Given the description of an element on the screen output the (x, y) to click on. 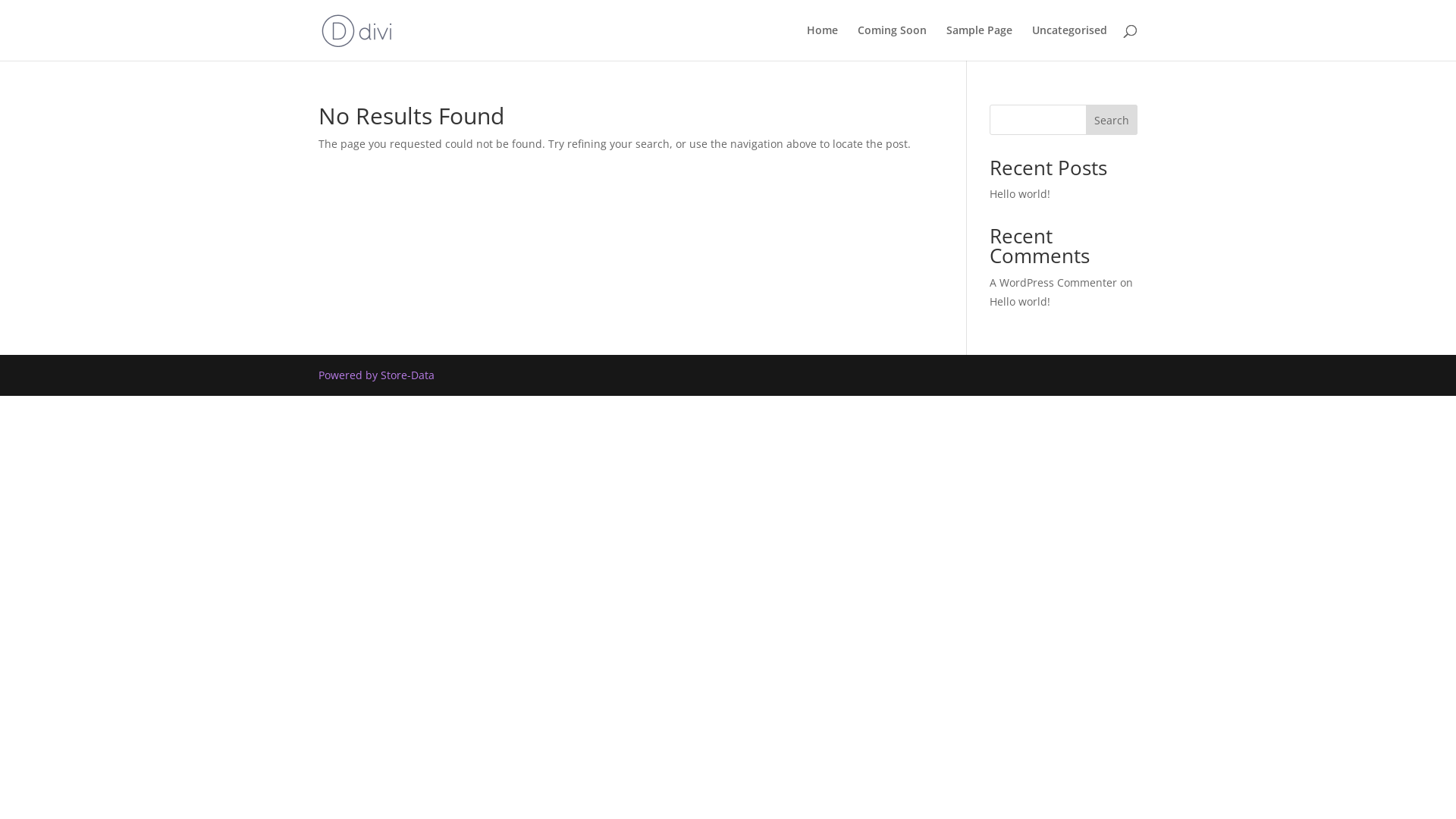
Hello world! Element type: text (1019, 301)
Search Element type: text (1111, 119)
Sample Page Element type: text (979, 42)
Hello world! Element type: text (1019, 193)
Coming Soon Element type: text (891, 42)
Home Element type: text (821, 42)
Uncategorised Element type: text (1069, 42)
A WordPress Commenter Element type: text (1053, 282)
